Given the description of an element on the screen output the (x, y) to click on. 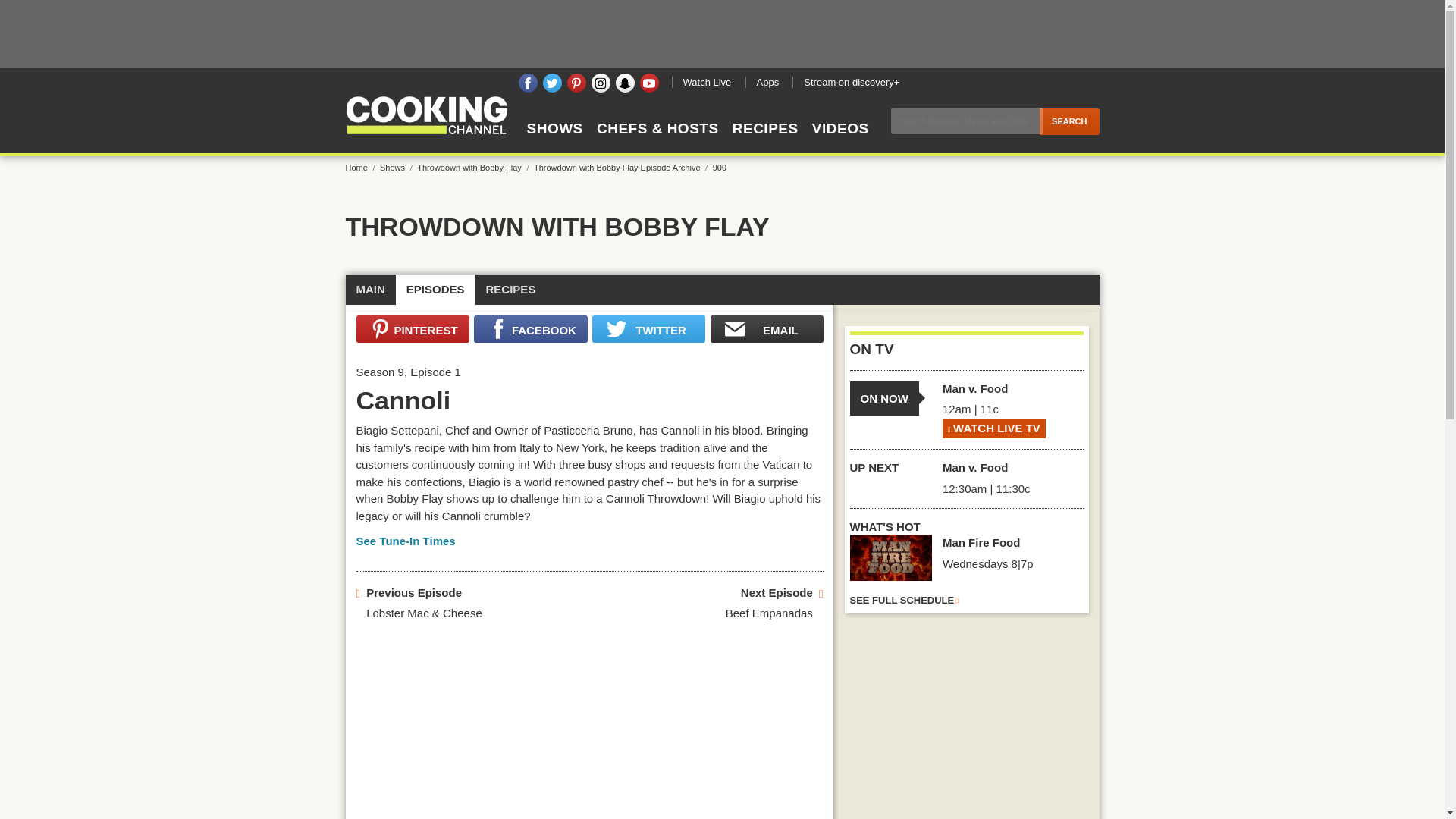
Apps (766, 81)
VIDEOS (840, 141)
Follow us on Pinterest (576, 82)
Throwdown with Bobby Flay (473, 166)
PINTEREST (412, 329)
Follow us on Snapchat (624, 82)
Man v. Food (974, 388)
Next Episode (776, 592)
RECIPES (511, 289)
Previous Episode (413, 592)
